Given the description of an element on the screen output the (x, y) to click on. 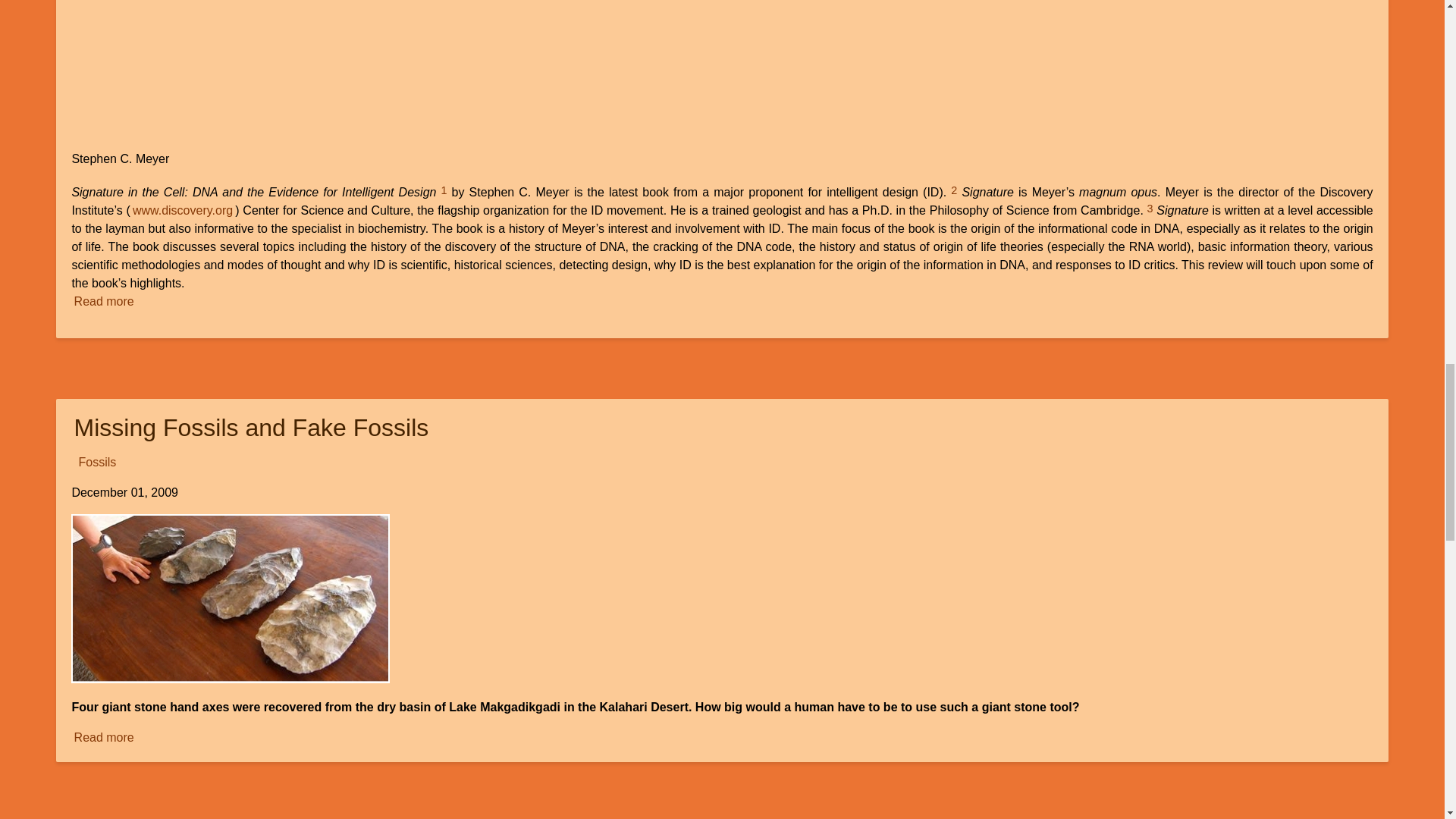
Missing Fossils and Fake Fossils (103, 737)
Stephen C. Meyer (245, 75)
Review of the Book Signature in the Cell by Stephen C. Meyer (103, 301)
